Given the description of an element on the screen output the (x, y) to click on. 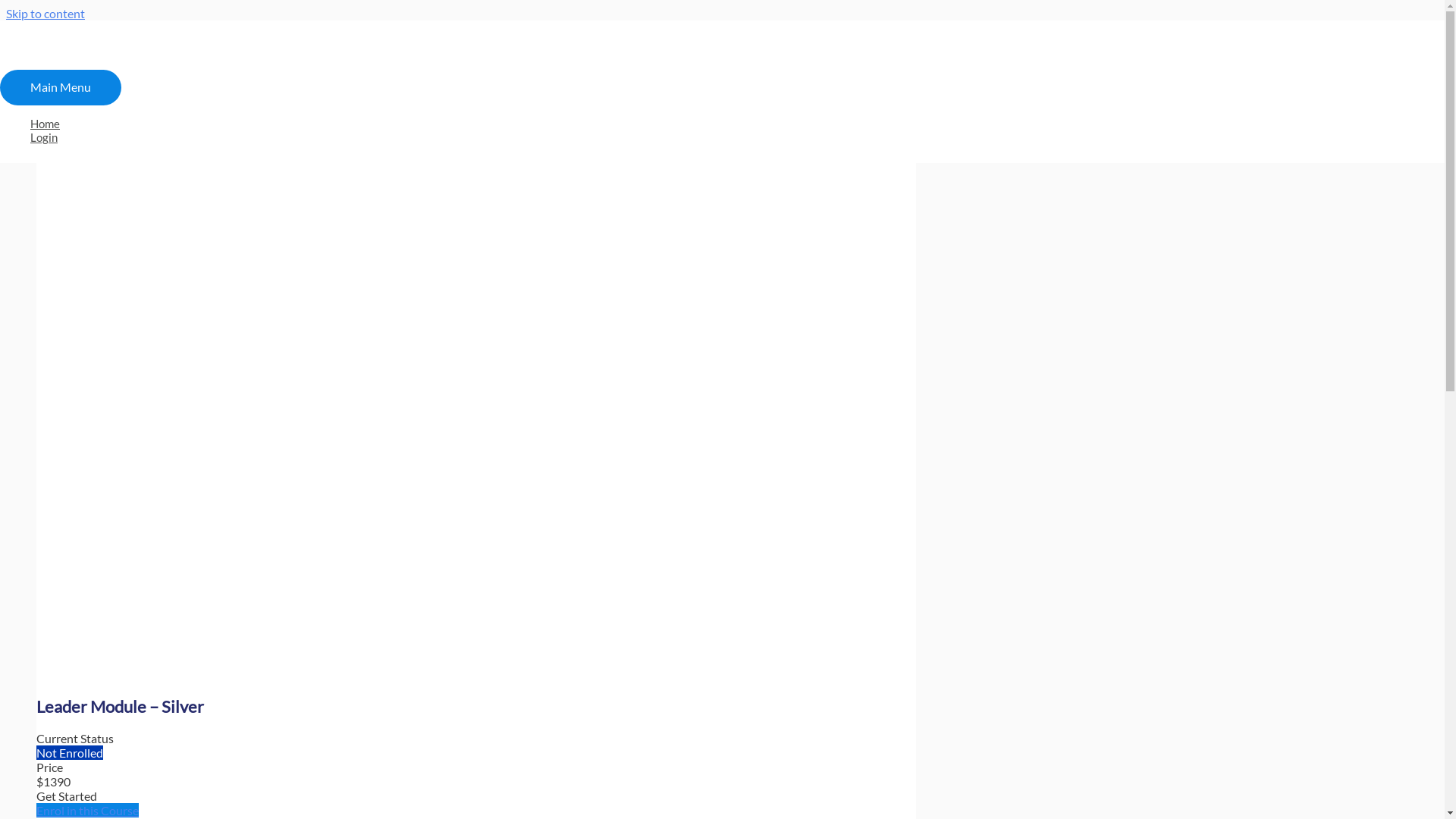
Home Element type: text (485, 123)
Main Menu Element type: text (60, 87)
Skip to content Element type: text (45, 13)
Enrol in this Course Element type: text (87, 810)
Login Element type: text (485, 137)
